Given the description of an element on the screen output the (x, y) to click on. 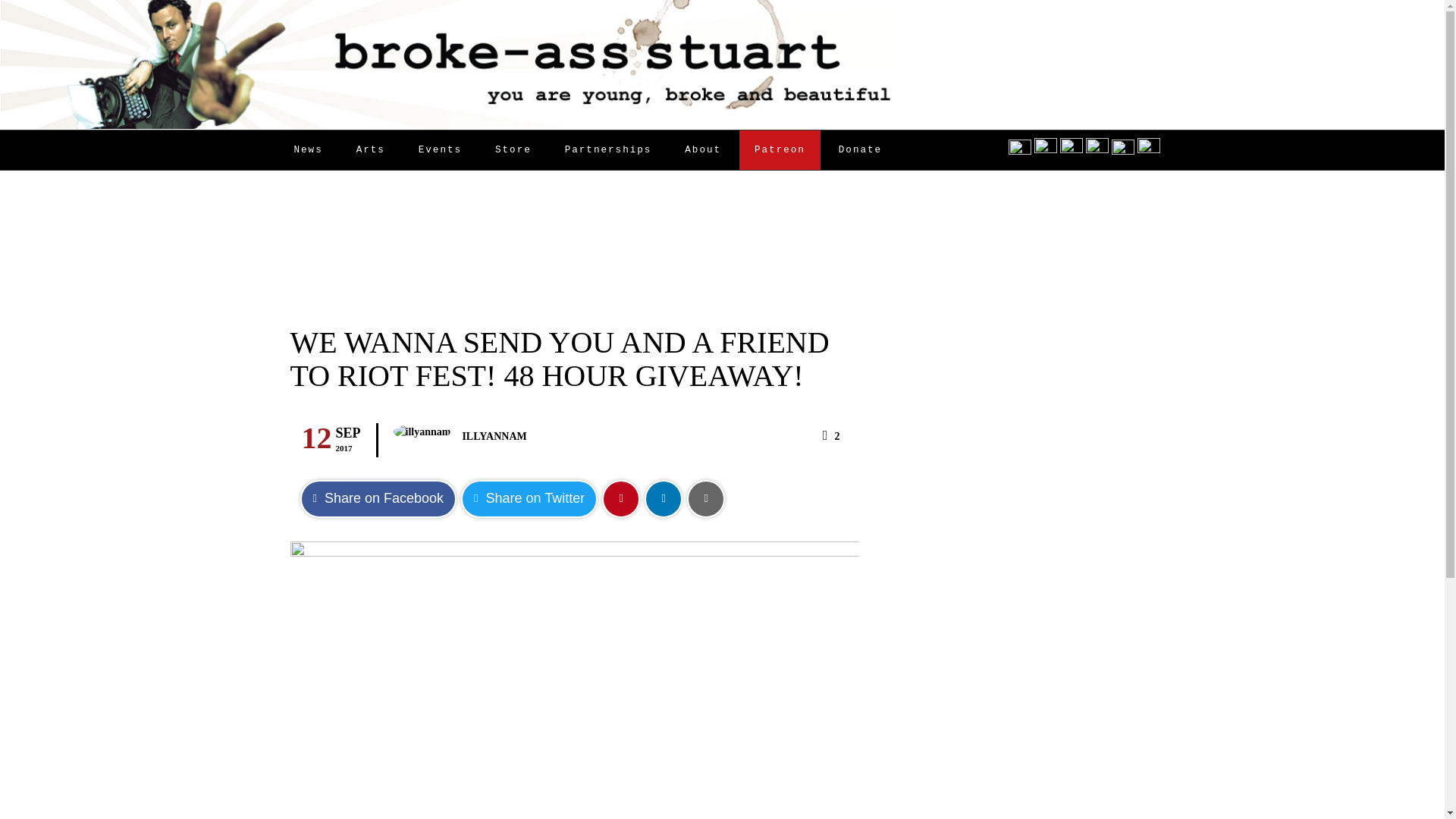
Donate (860, 149)
Store (513, 149)
View all posts by Illyannam (493, 436)
News (308, 149)
View all posts by illyannam (422, 431)
About (702, 149)
Partnerships (608, 149)
Events (440, 149)
Arts (370, 149)
Patreon (780, 149)
